Given the description of an element on the screen output the (x, y) to click on. 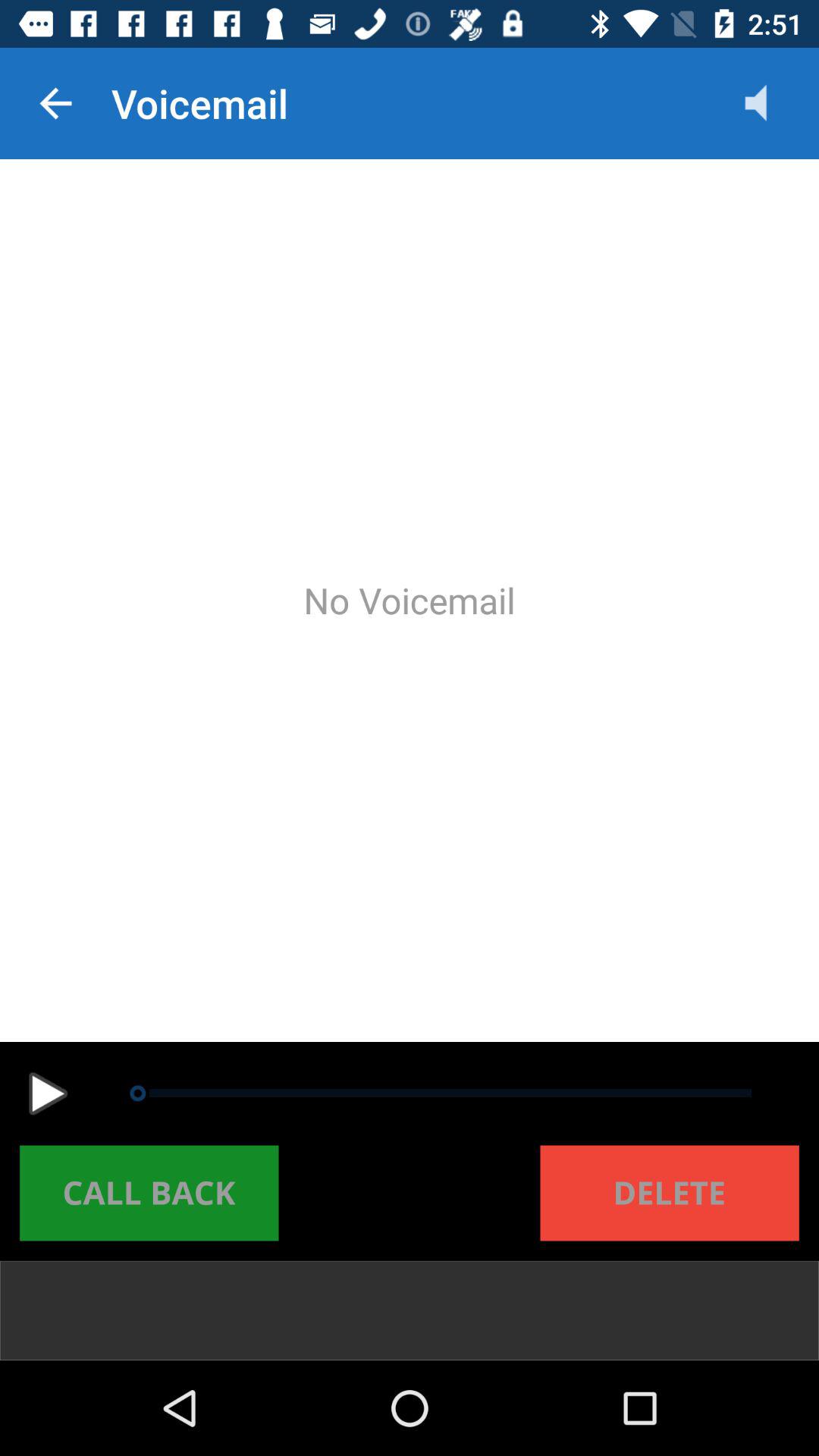
turn on the item next to the voicemail item (55, 103)
